Given the description of an element on the screen output the (x, y) to click on. 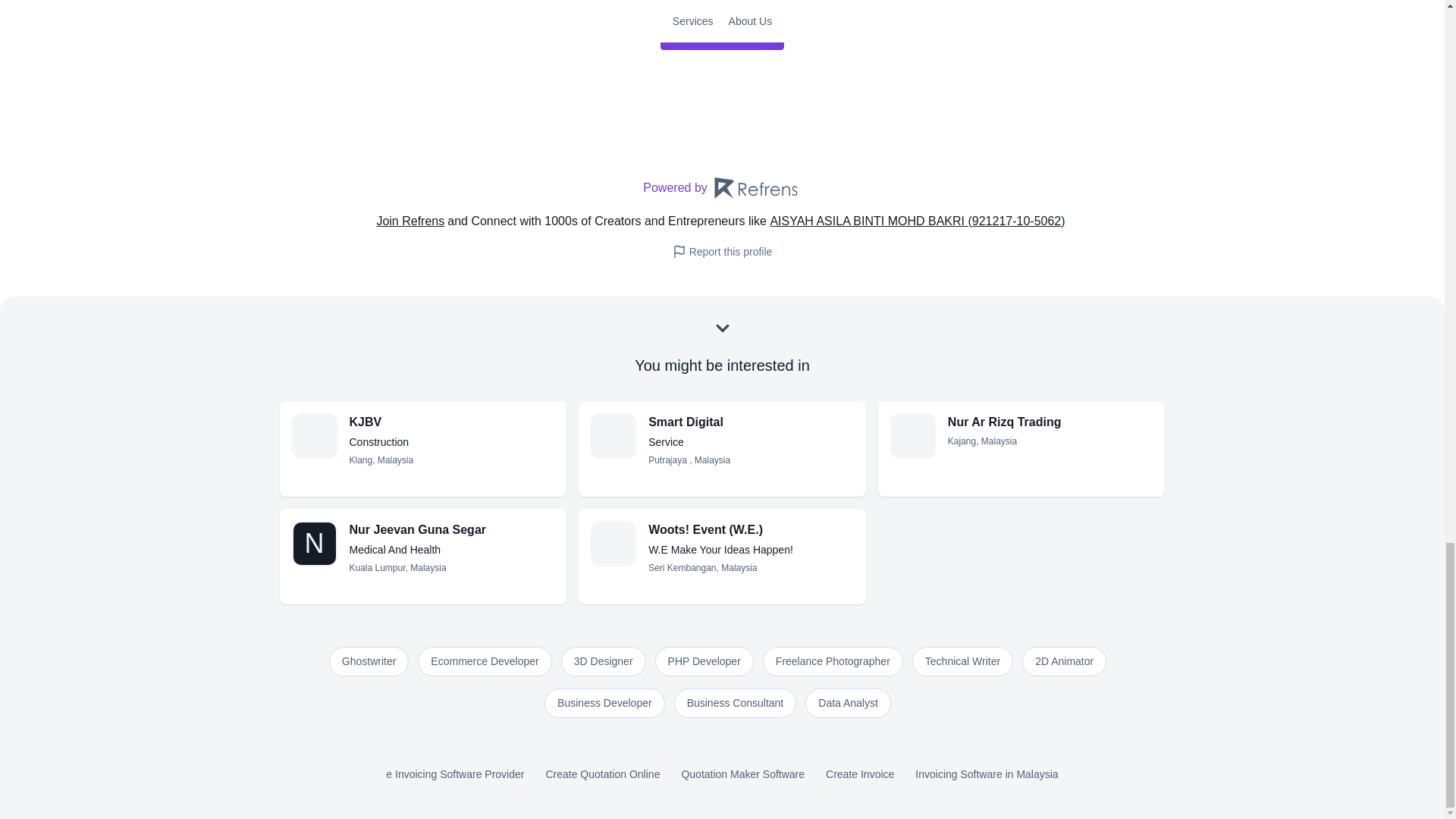
Nur Jeevan Guna Segar (451, 529)
KJBV (451, 422)
KJBV (451, 422)
Smart Digital (750, 422)
Data Analyst (848, 703)
2D Animator (1064, 661)
3D Designer (603, 661)
Nur Jeevan Guna Segar (451, 529)
Business Developer (604, 703)
Top freelance Ghostwriter (369, 661)
Ecommerce Developer (484, 661)
Hire PHP Developer (704, 661)
Business Consultant (735, 703)
Best freelance Technical Writer (962, 661)
e Invoicing Software Provider (454, 774)
